Given the description of an element on the screen output the (x, y) to click on. 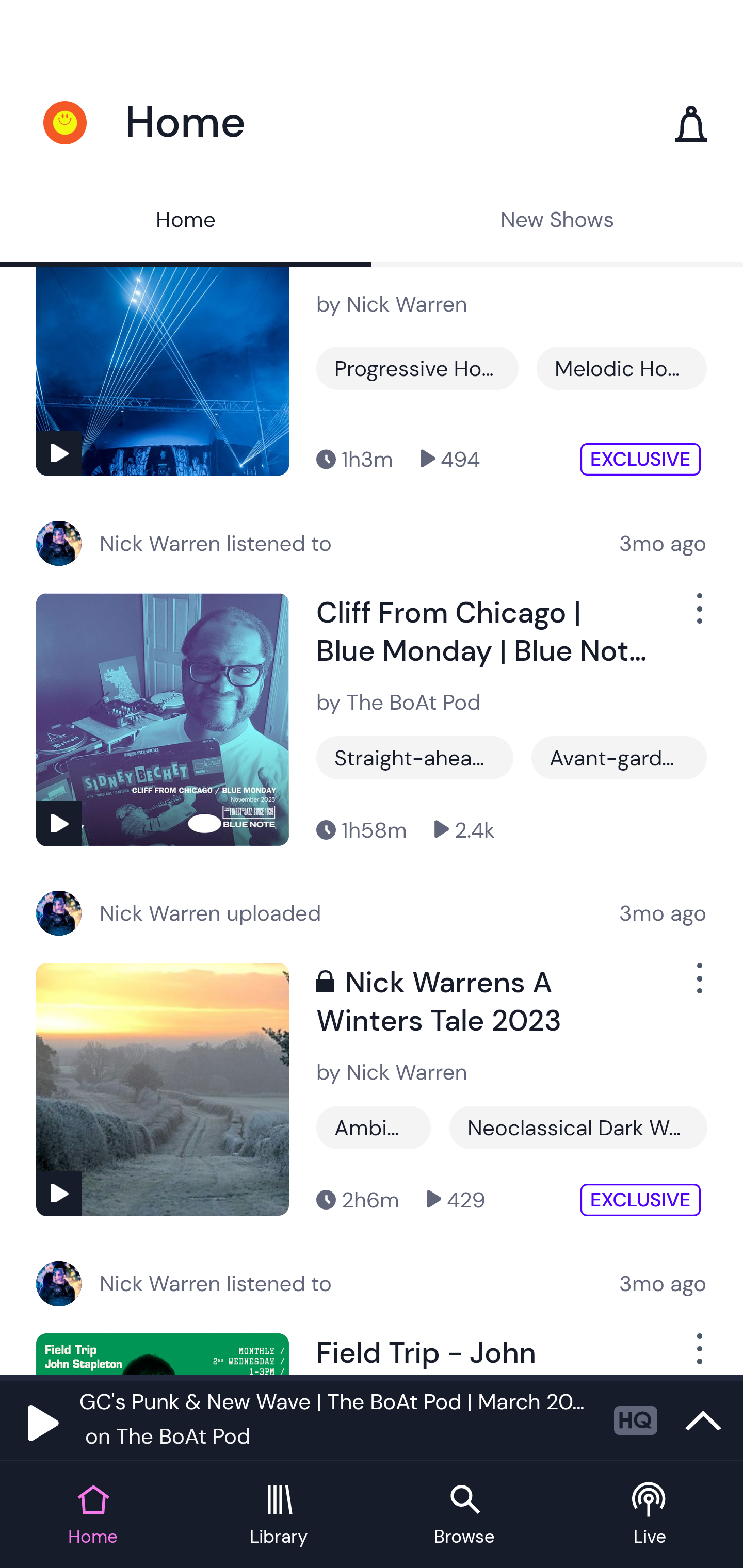
Home (185, 221)
New Shows (557, 221)
Progressive House (417, 368)
Melodic House (621, 368)
Show Options Menu Button (697, 615)
Straight-ahead Jazz (414, 757)
Avant-garde Jazz (618, 757)
Show Options Menu Button (697, 985)
Ambient (373, 1127)
Neoclassical Dark Wave (577, 1127)
Show Options Menu Button (697, 1353)
Home tab Home (92, 1515)
Library tab Library (278, 1515)
Browse tab Browse (464, 1515)
Live tab Live (650, 1515)
